Given the description of an element on the screen output the (x, y) to click on. 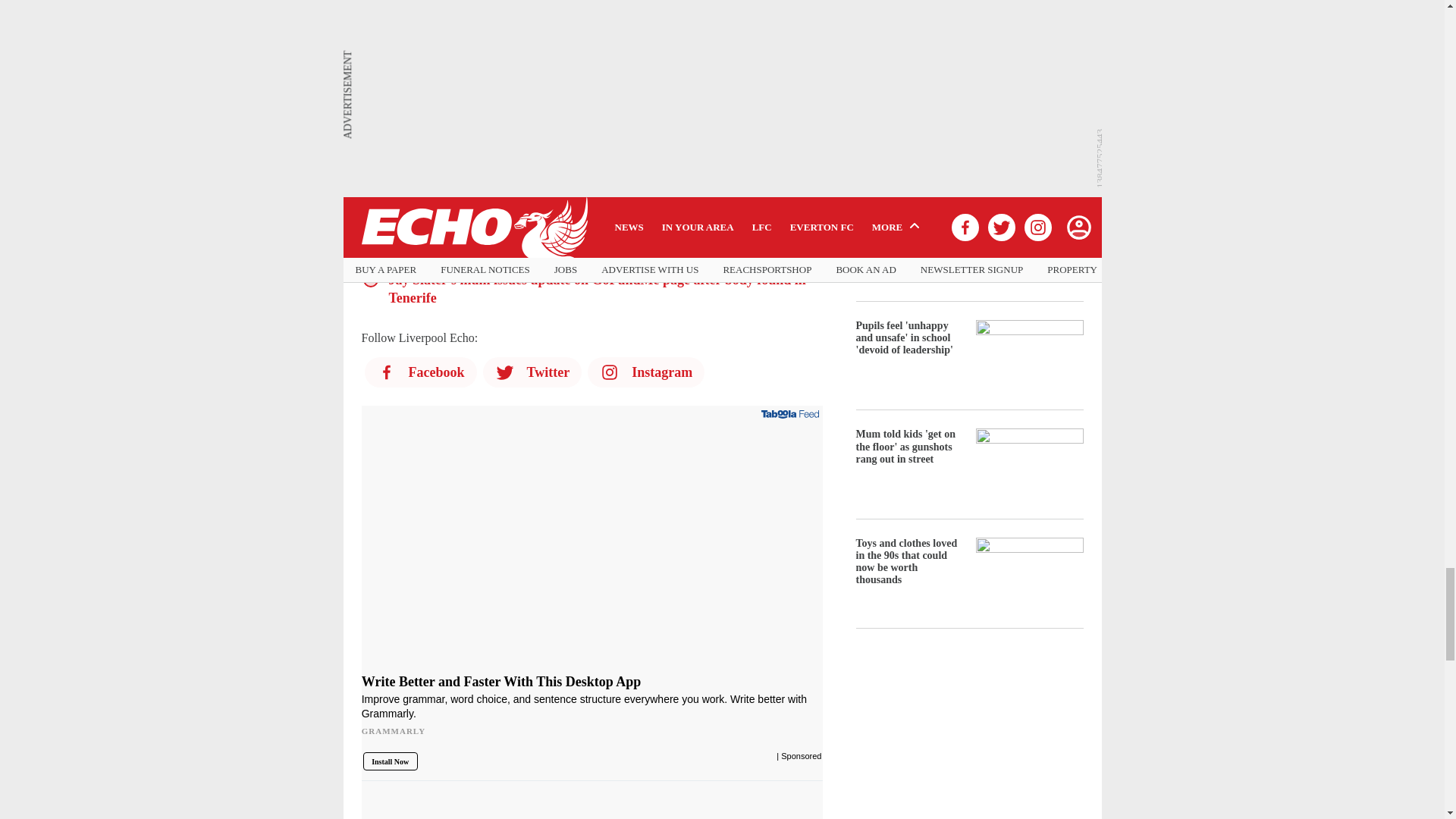
Write Better and Faster With This Desktop App (591, 546)
Write Better and Faster With This Desktop App (591, 710)
Read Next Article Icon (369, 134)
Read Next Article Icon (369, 188)
Read Next Article Icon (369, 161)
